Given the description of an element on the screen output the (x, y) to click on. 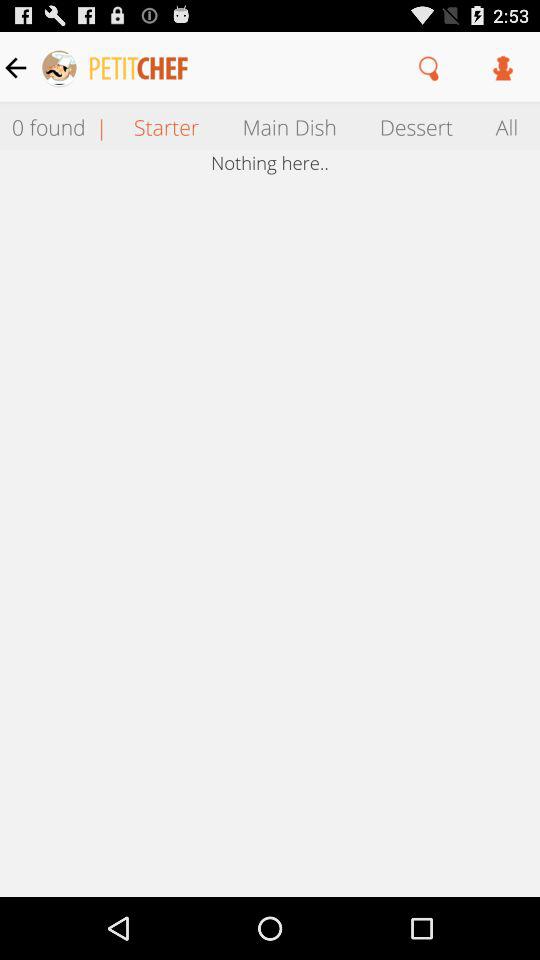
select icon next to the main dish item (416, 126)
